Given the description of an element on the screen output the (x, y) to click on. 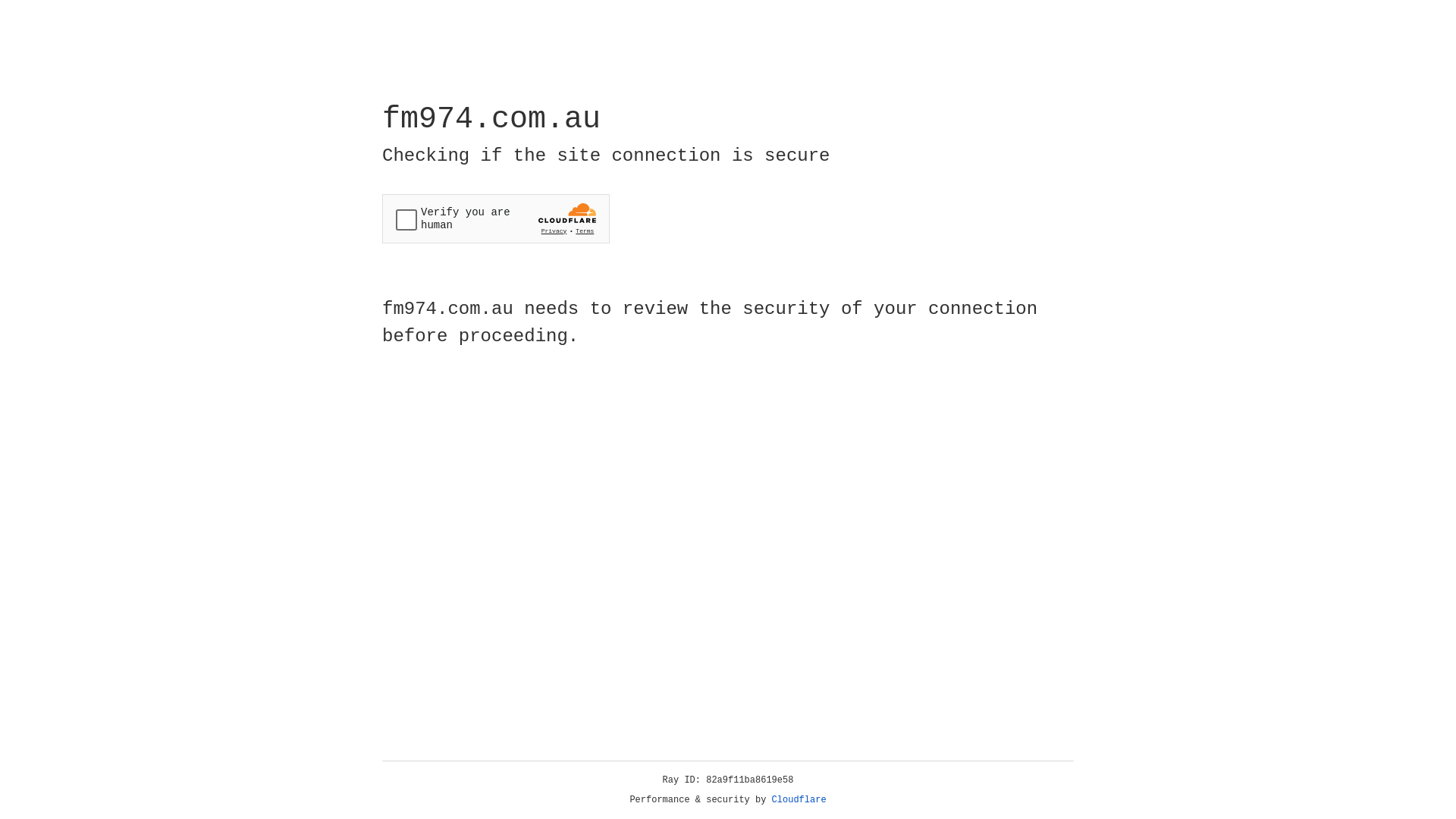
Cloudflare Element type: text (798, 799)
Widget containing a Cloudflare security challenge Element type: hover (495, 218)
